Given the description of an element on the screen output the (x, y) to click on. 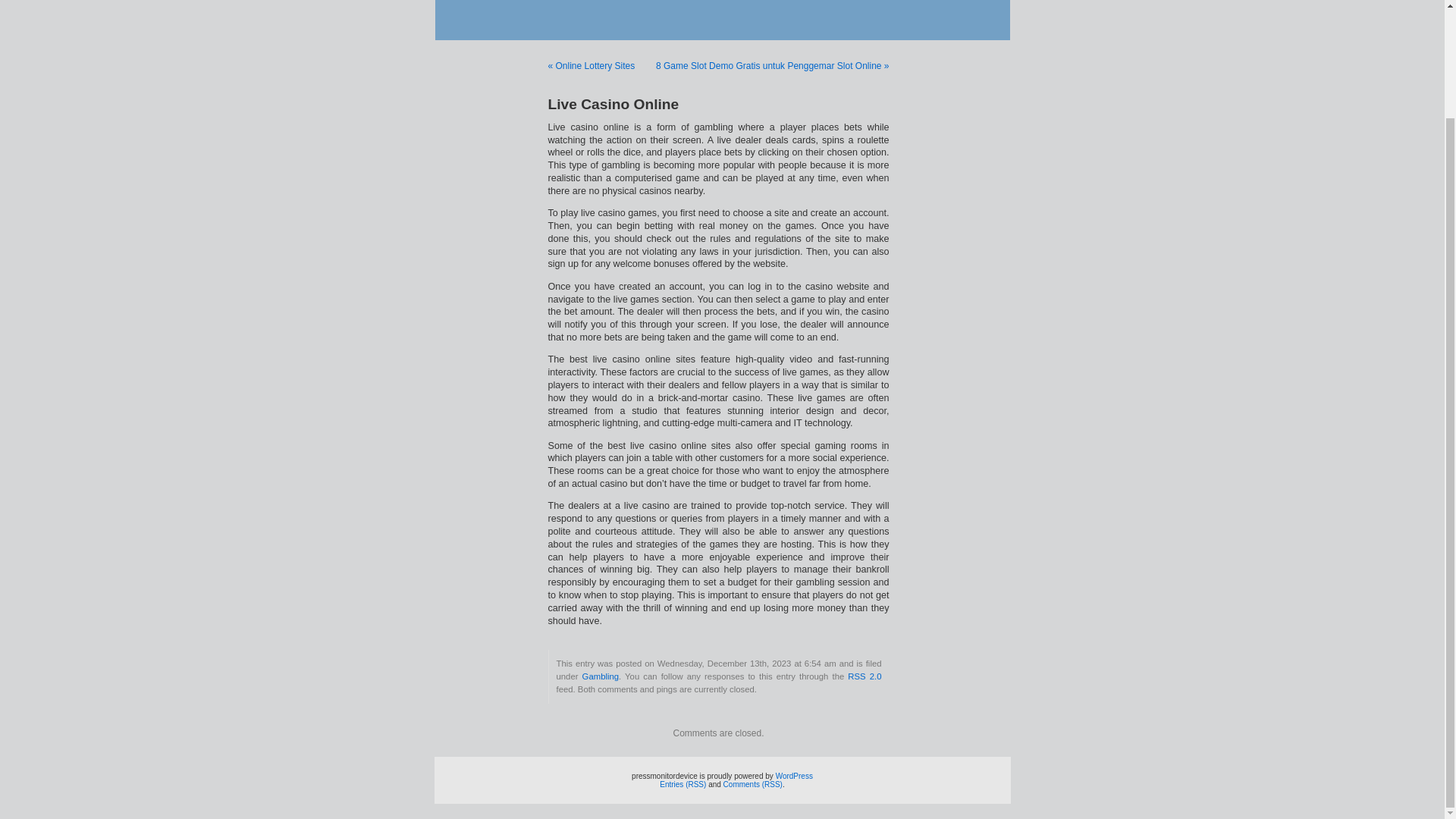
RSS 2.0 (863, 675)
Gambling (600, 675)
WordPress (794, 776)
